Given the description of an element on the screen output the (x, y) to click on. 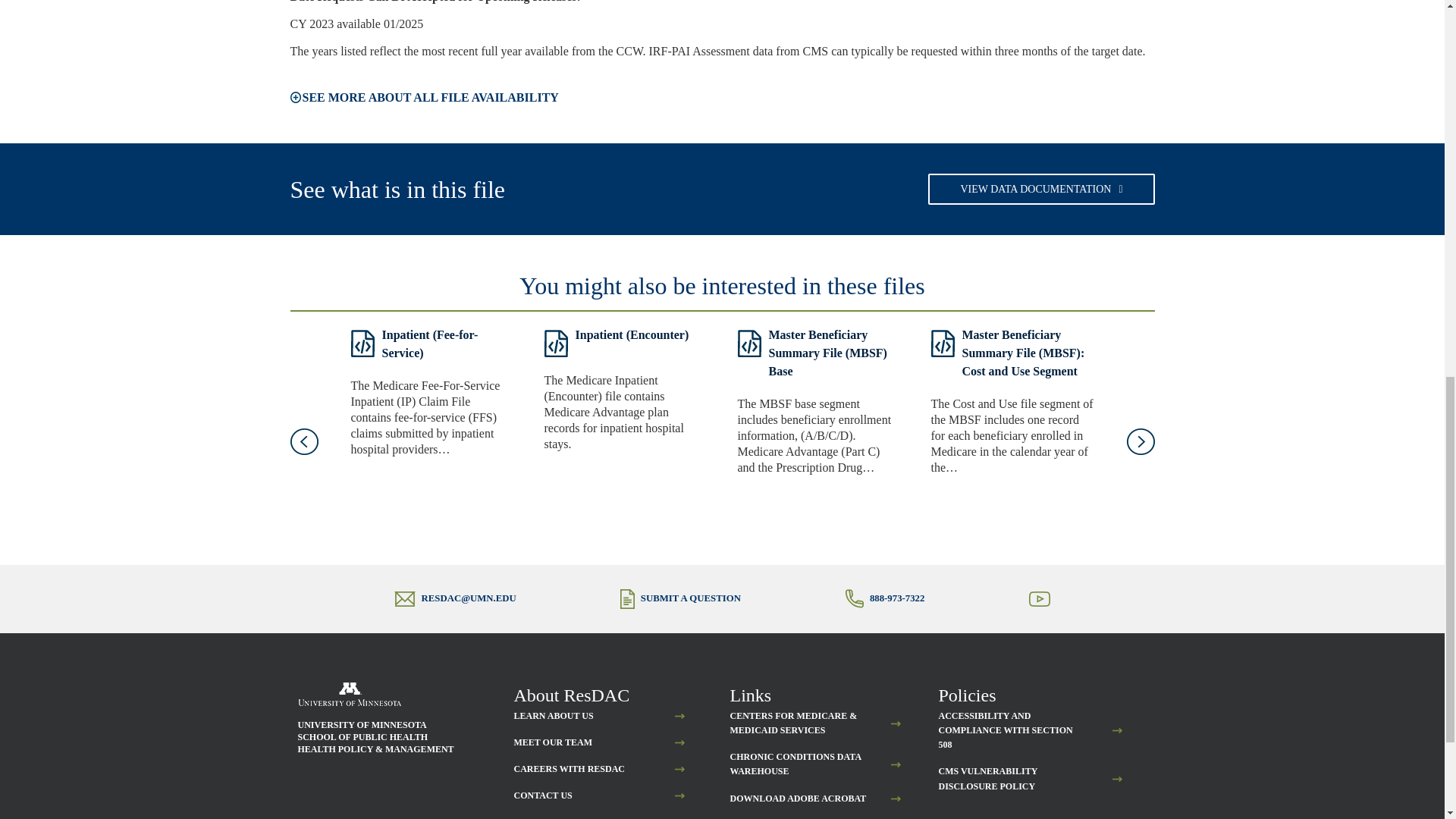
Accessibility and Compliance with Section 508 (1011, 730)
SEE MORE ABOUT ALL FILE AVAILABILITY (423, 97)
YOUTUBE (1053, 609)
CMS Vulnerability Disclosure Policy (1011, 778)
SUBMIT A QUESTION (690, 598)
Learn about ResDAC (553, 716)
Next (1140, 441)
Previous (303, 441)
888-973-7322 (896, 598)
VIEW DATA DOCUMENTATION (1041, 188)
University of Minnesota School of Public Health (349, 693)
